Given the description of an element on the screen output the (x, y) to click on. 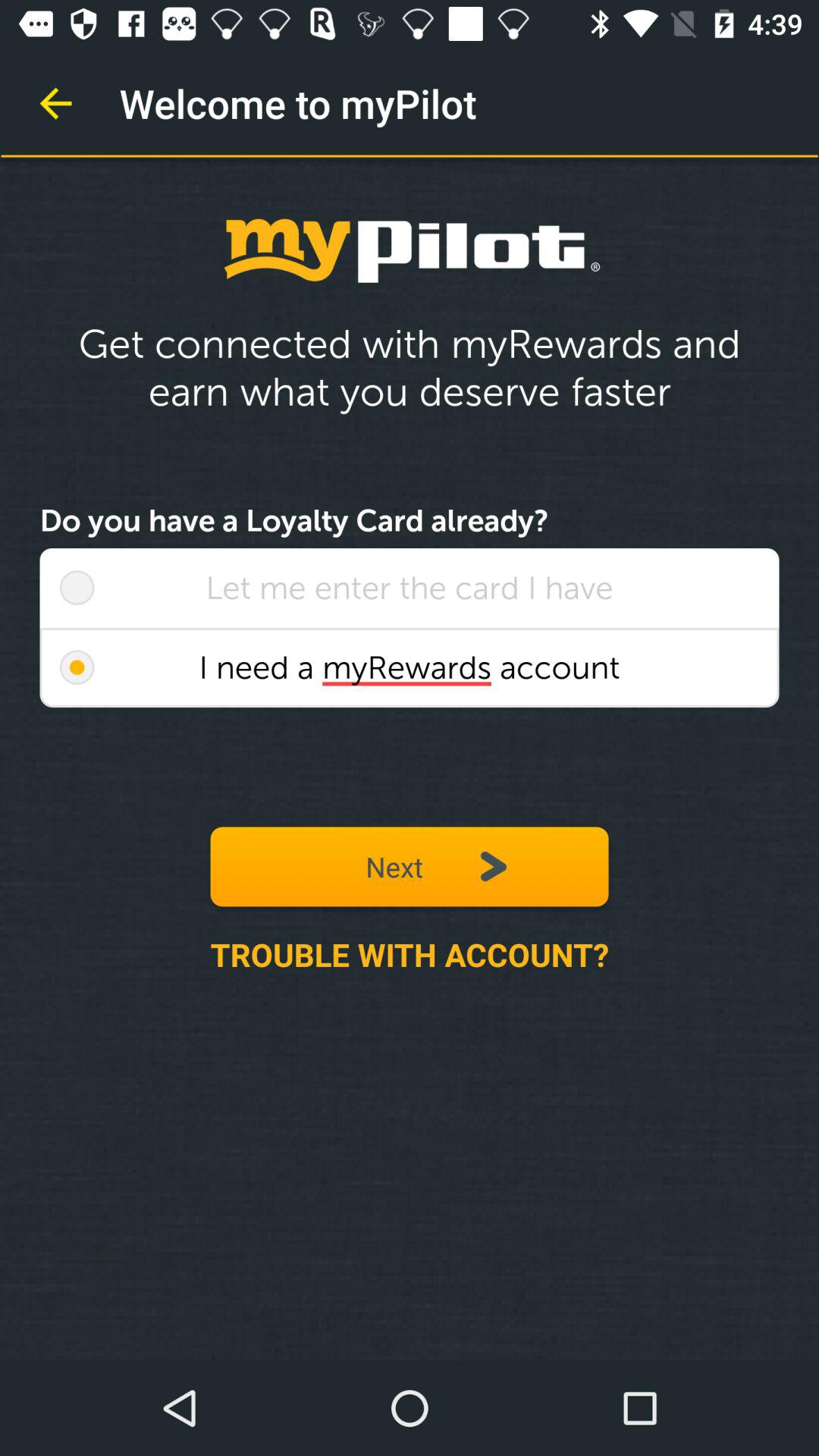
select the icon below next (409, 954)
